Given the description of an element on the screen output the (x, y) to click on. 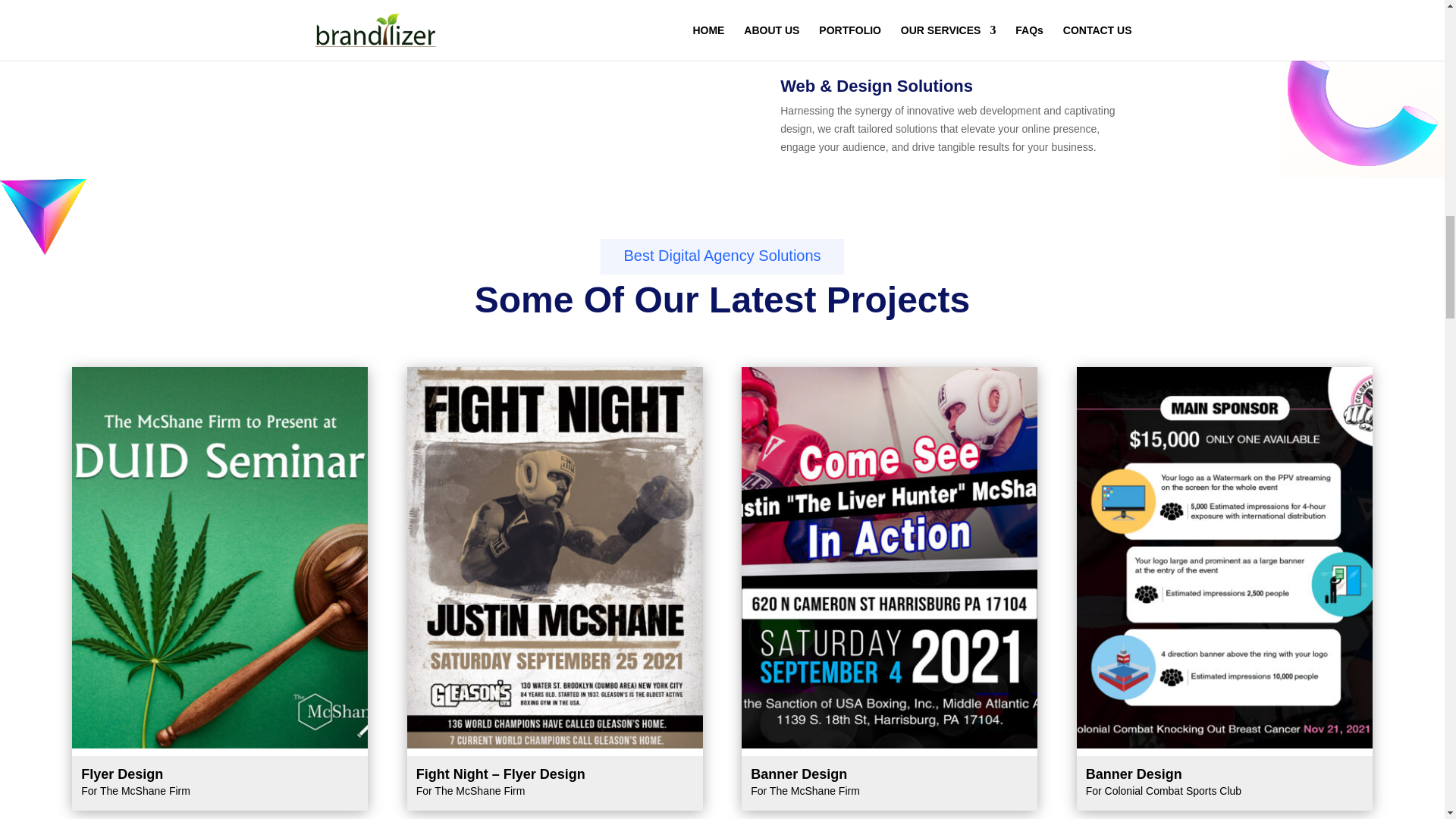
Flyer Design (219, 744)
Fight Night - Flyer Design (555, 744)
Banner Design (1225, 744)
Banner Design (888, 744)
